Given the description of an element on the screen output the (x, y) to click on. 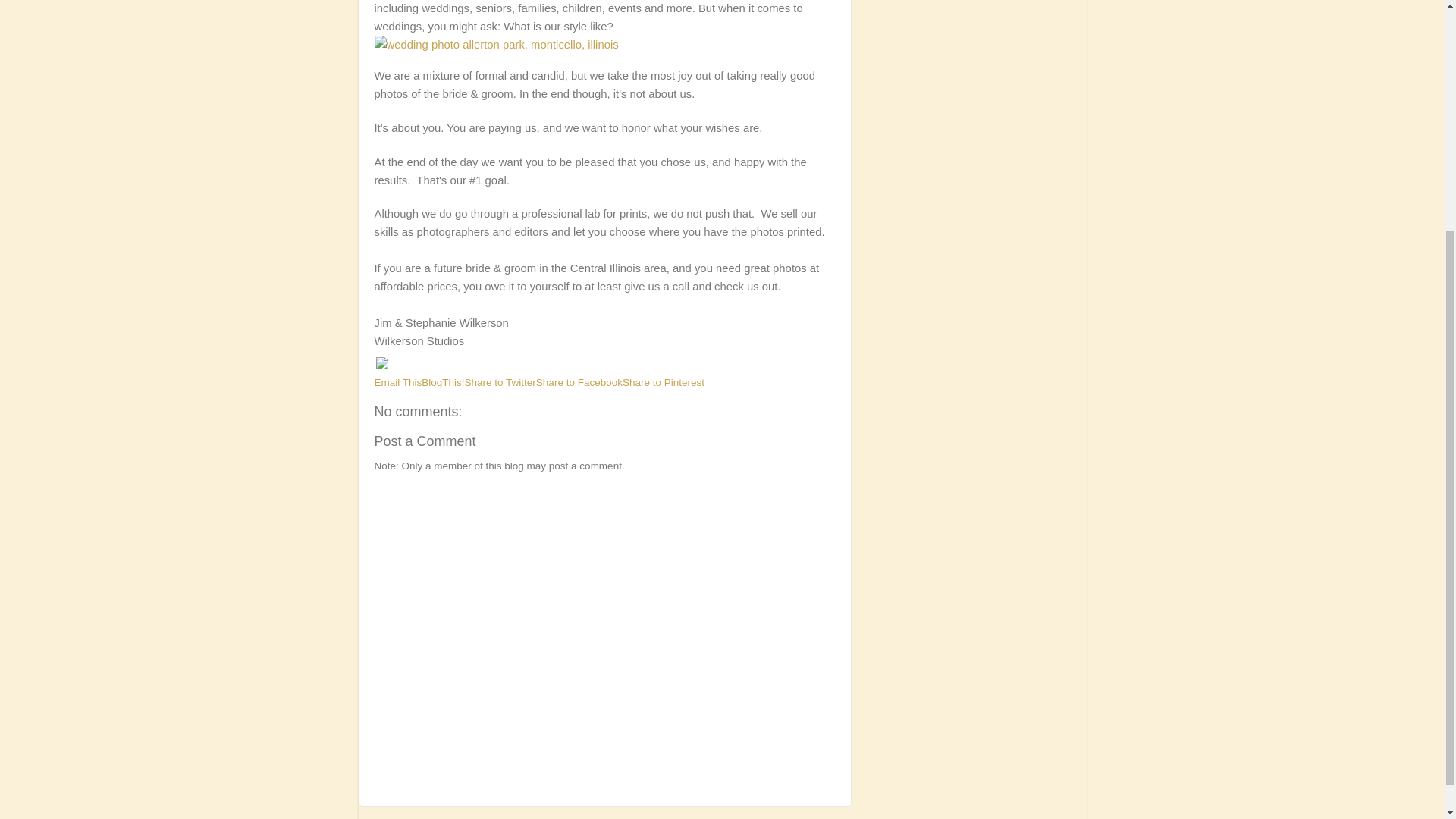
Share to Pinterest (663, 382)
Email This (398, 382)
Share to Pinterest (663, 382)
BlogThis! (443, 382)
Share to Twitter (499, 382)
Share to Facebook (579, 382)
Edit Page (381, 365)
Share to Twitter (499, 382)
Share to Facebook (579, 382)
Email This (398, 382)
BlogThis! (443, 382)
